Given the description of an element on the screen output the (x, y) to click on. 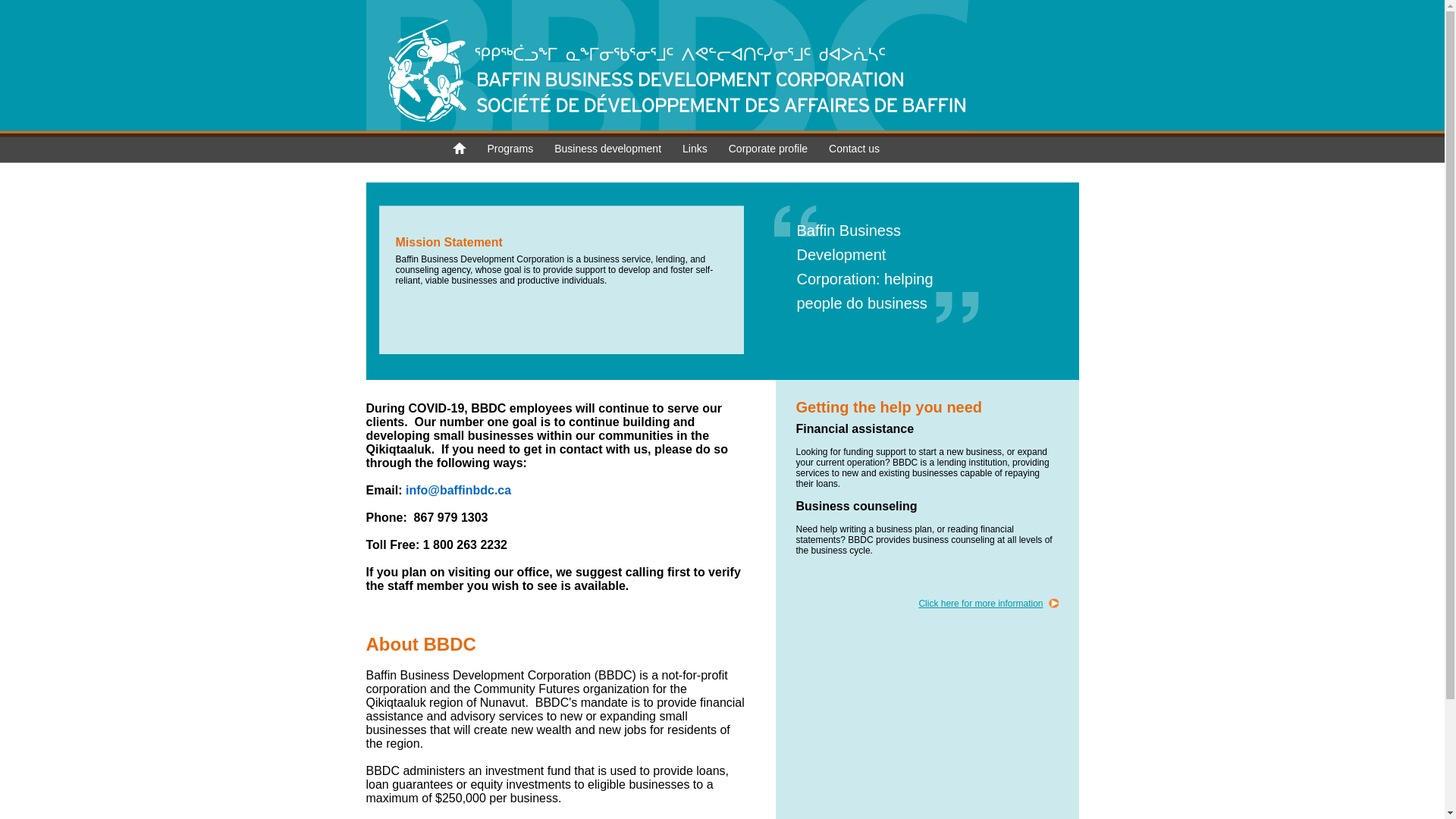
Links Element type: text (694, 152)
Home Element type: hover (666, 127)
home Element type: hover (458, 154)
Contact us Element type: text (853, 152)
info@baffinbdc.ca Element type: text (458, 489)
Click here for more information Element type: text (987, 603)
Programs Element type: text (509, 152)
Corporate profile Element type: text (767, 152)
Business development Element type: text (607, 152)
